Given the description of an element on the screen output the (x, y) to click on. 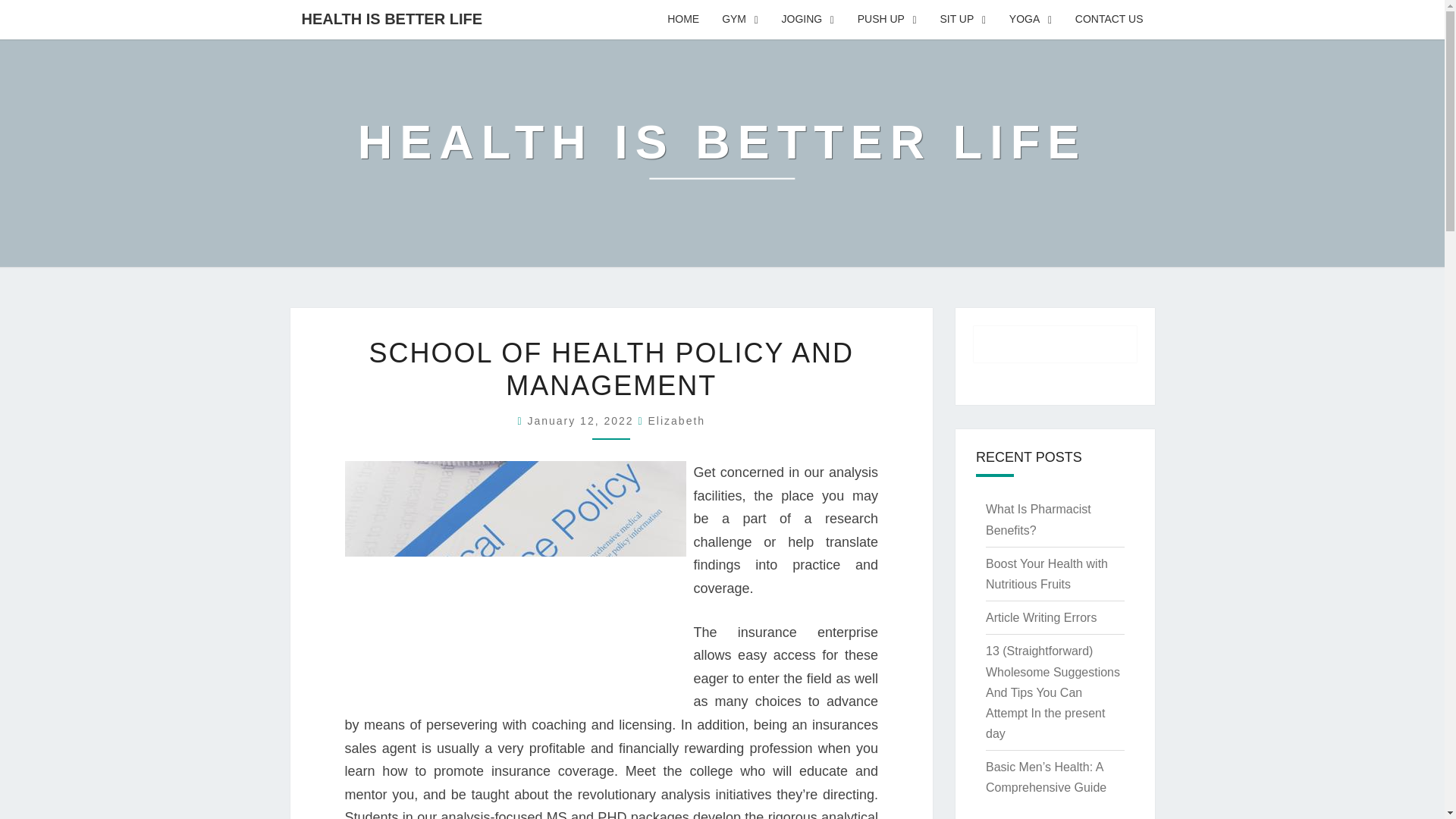
HEALTH IS BETTER LIFE (391, 18)
January 12, 2022 (582, 420)
JOGING (807, 19)
YOGA (1030, 19)
HOME (683, 19)
HEALTH IS BETTER LIFE (722, 152)
View all posts by Elizabeth (676, 420)
Health Is Better Life (722, 152)
5:56 pm (582, 420)
Elizabeth (676, 420)
GYM (740, 19)
CONTACT US (1109, 19)
PUSH UP (886, 19)
SIT UP (962, 19)
